Given the description of an element on the screen output the (x, y) to click on. 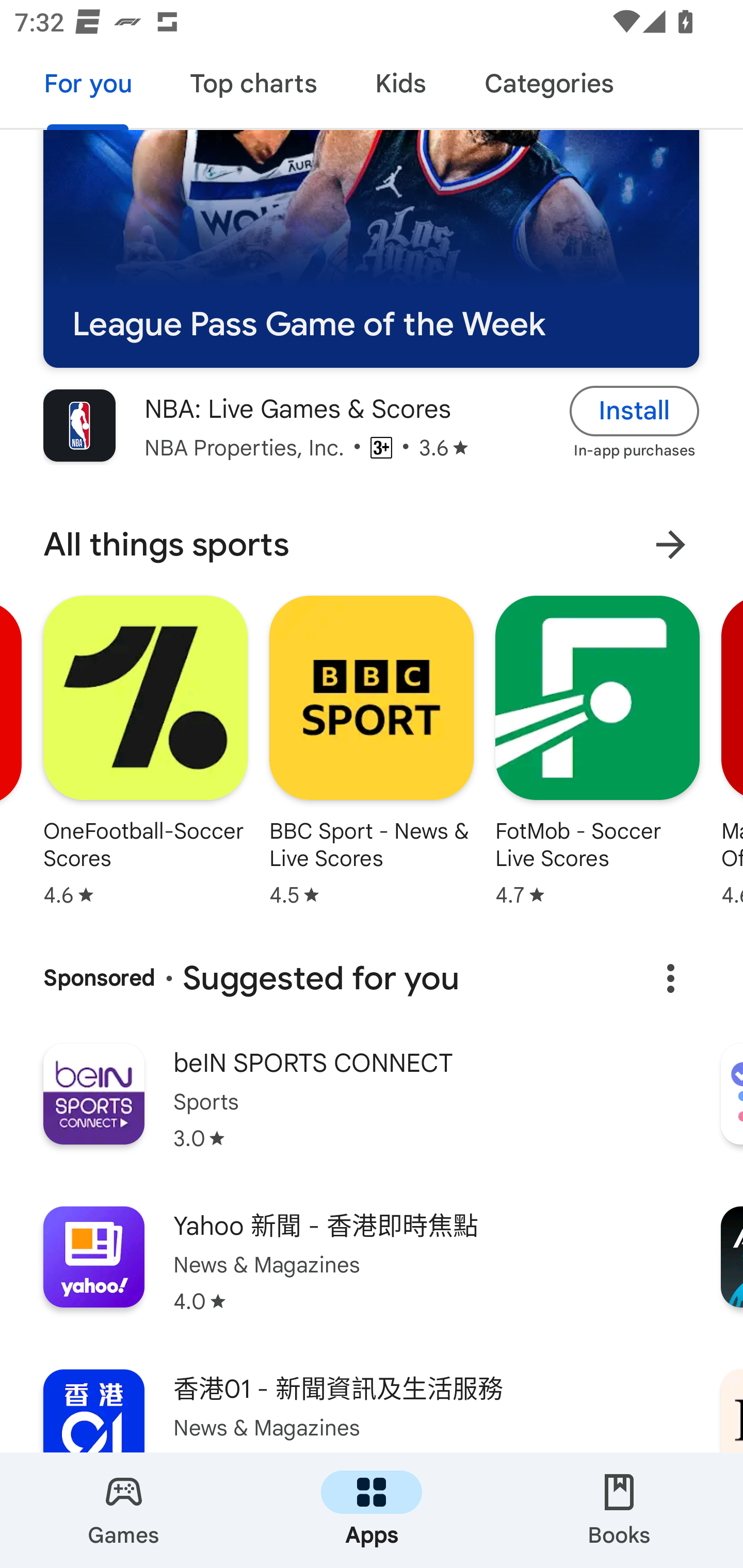
Top charts (253, 86)
Kids (400, 86)
Categories (548, 86)
League Pass Game of the Week (371, 249)
Install (634, 411)
More results for All things sports (670, 544)
OneFootball-Soccer Scores
Star rating: 4.6
 (145, 750)
BBC Sport - News & Live Scores
Star rating: 4.5
 (371, 750)
FotMob - Soccer Live Scores
Star rating: 4.7
 (597, 750)
About this ad (670, 978)
beIN SPORTS CONNECT
Sports
Star rating: 3.0
 (371, 1109)
Games (123, 1509)
Books (619, 1509)
